Given the description of an element on the screen output the (x, y) to click on. 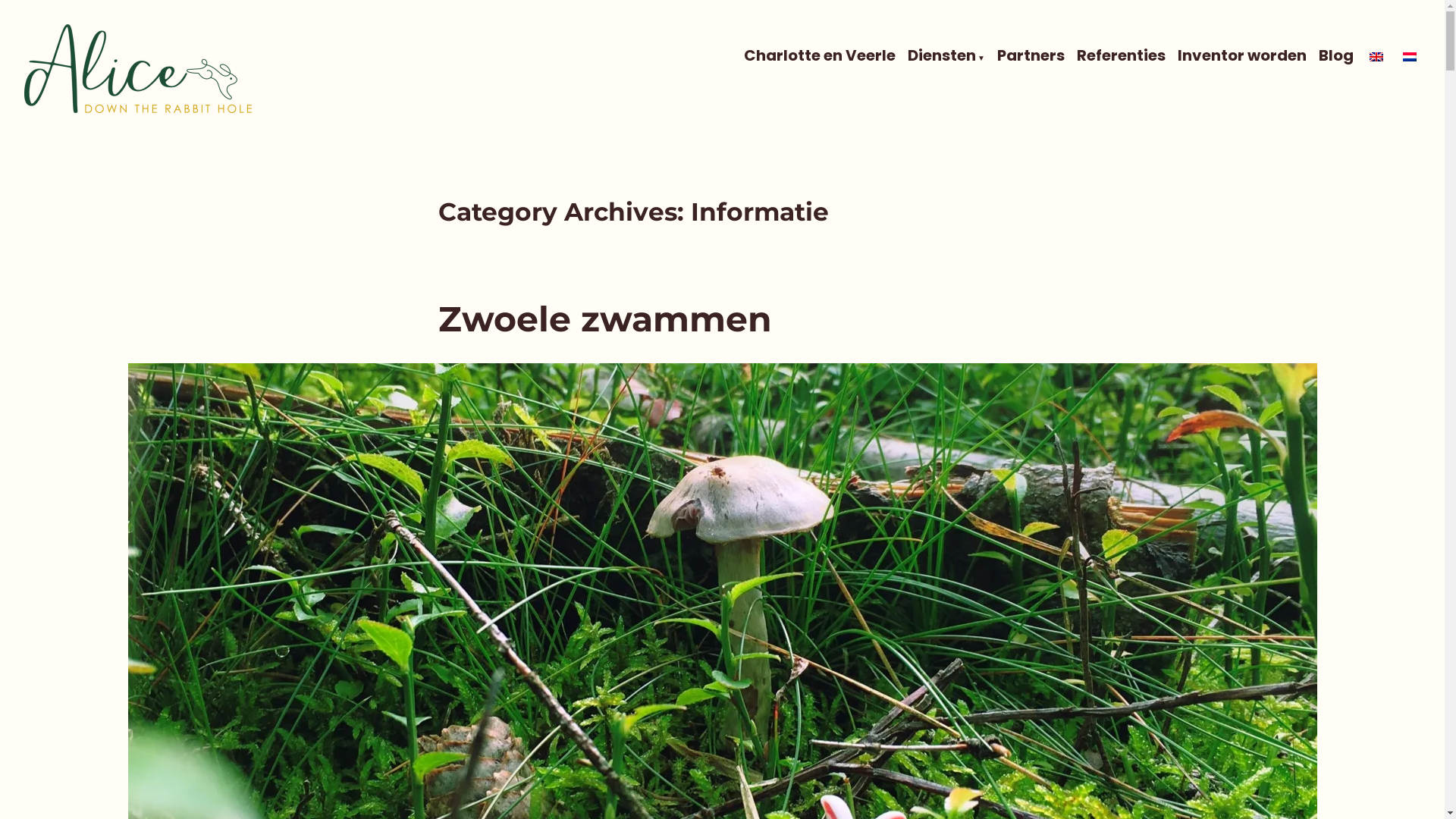
English Element type: hover (1376, 56)
Dutch Element type: hover (1409, 56)
Partners Element type: text (1030, 55)
Charlotte en Veerle Element type: text (819, 55)
Zwoele zwammen Element type: text (604, 318)
Alice down the rabbit hole Element type: text (173, 136)
Referenties Element type: text (1120, 55)
Blog Element type: text (1335, 55)
Inventor worden Element type: text (1241, 55)
Diensten Element type: text (946, 55)
